Given the description of an element on the screen output the (x, y) to click on. 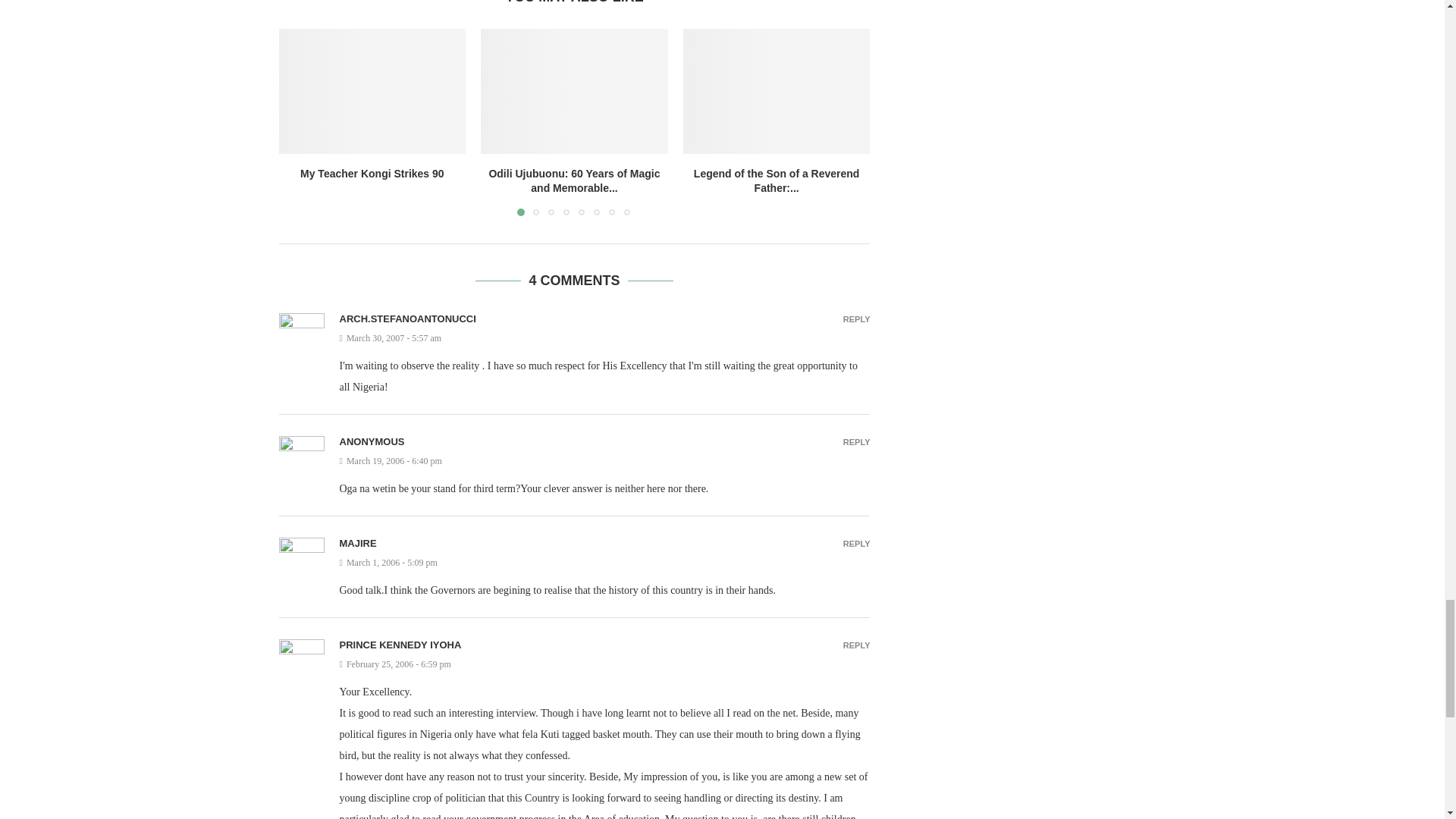
Legend of the Son of a Reverend Father:... (777, 180)
My Teacher Kongi Strikes 90 (371, 173)
Odili Ujubuonu: 60 Years of Magic and Memorable... (573, 180)
Odili Ujubuonu: 60 Years of Magic and Memorable Aesthetics (574, 90)
Legend of the Son of a Reverend Father: Odili Tony Ujubuonu (776, 90)
My Teacher Kongi Strikes 90 (372, 90)
